Given the description of an element on the screen output the (x, y) to click on. 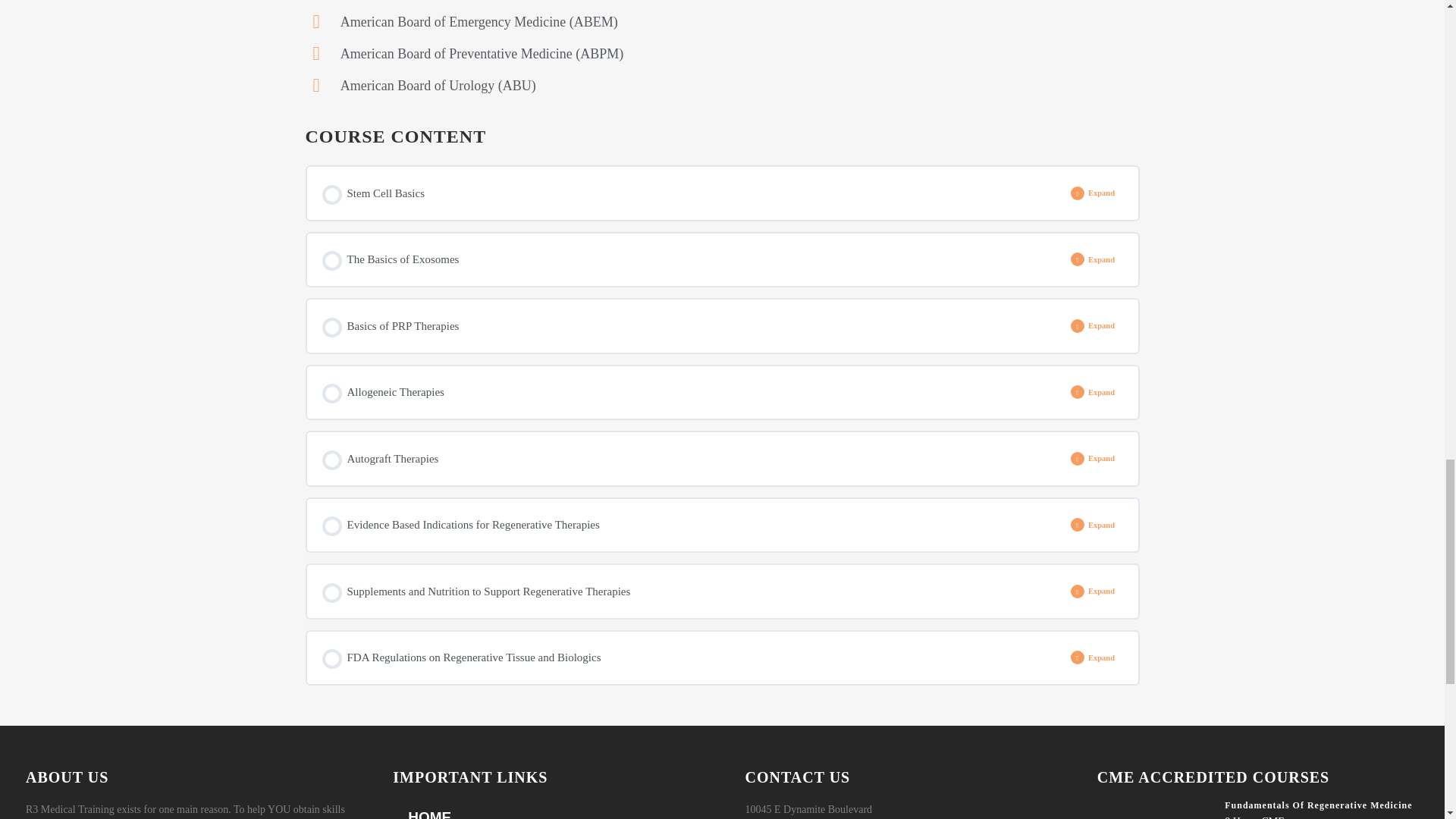
Stem Cell Basics (691, 192)
